Given the description of an element on the screen output the (x, y) to click on. 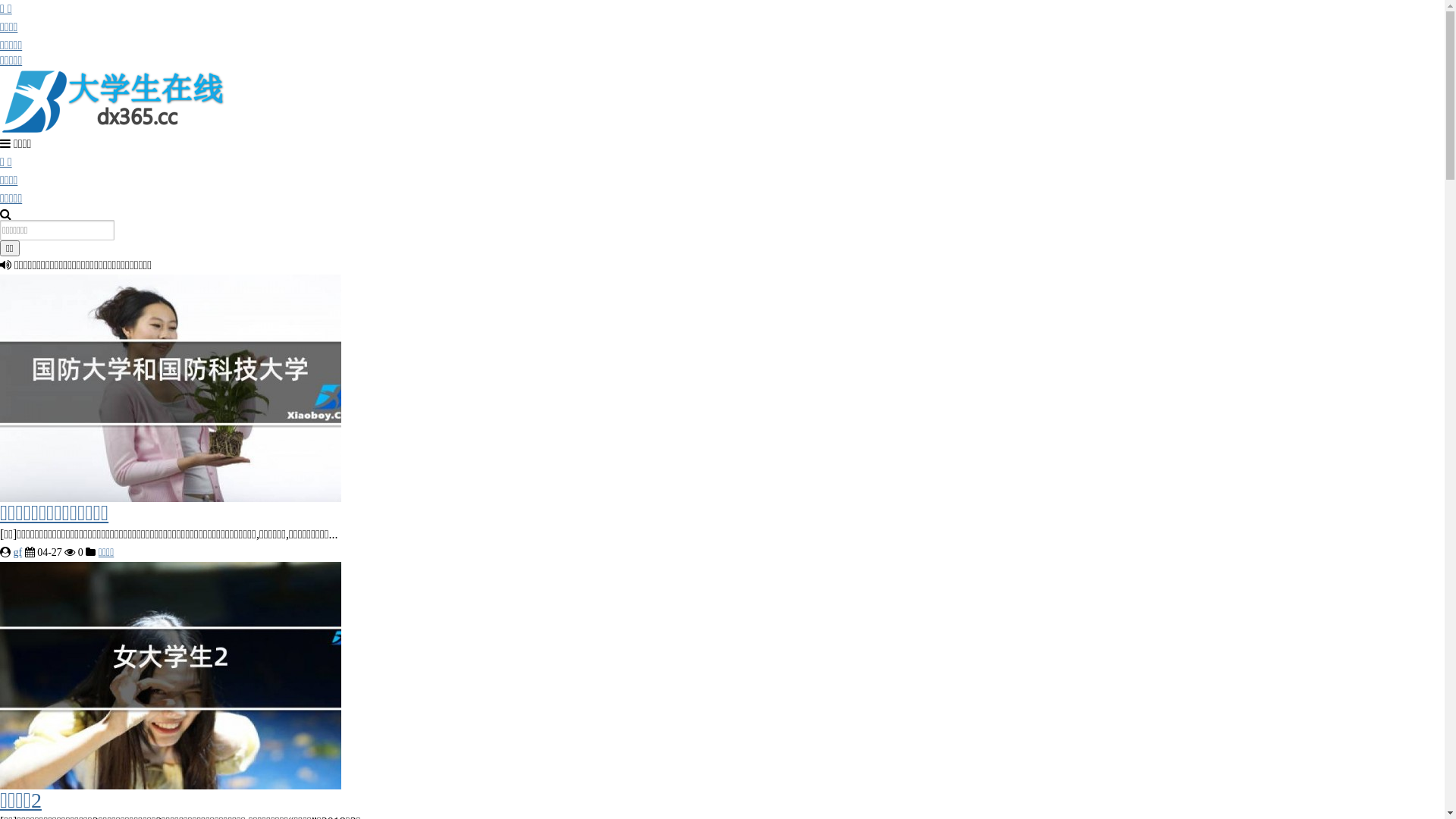
gf Element type: text (17, 552)
